Given the description of an element on the screen output the (x, y) to click on. 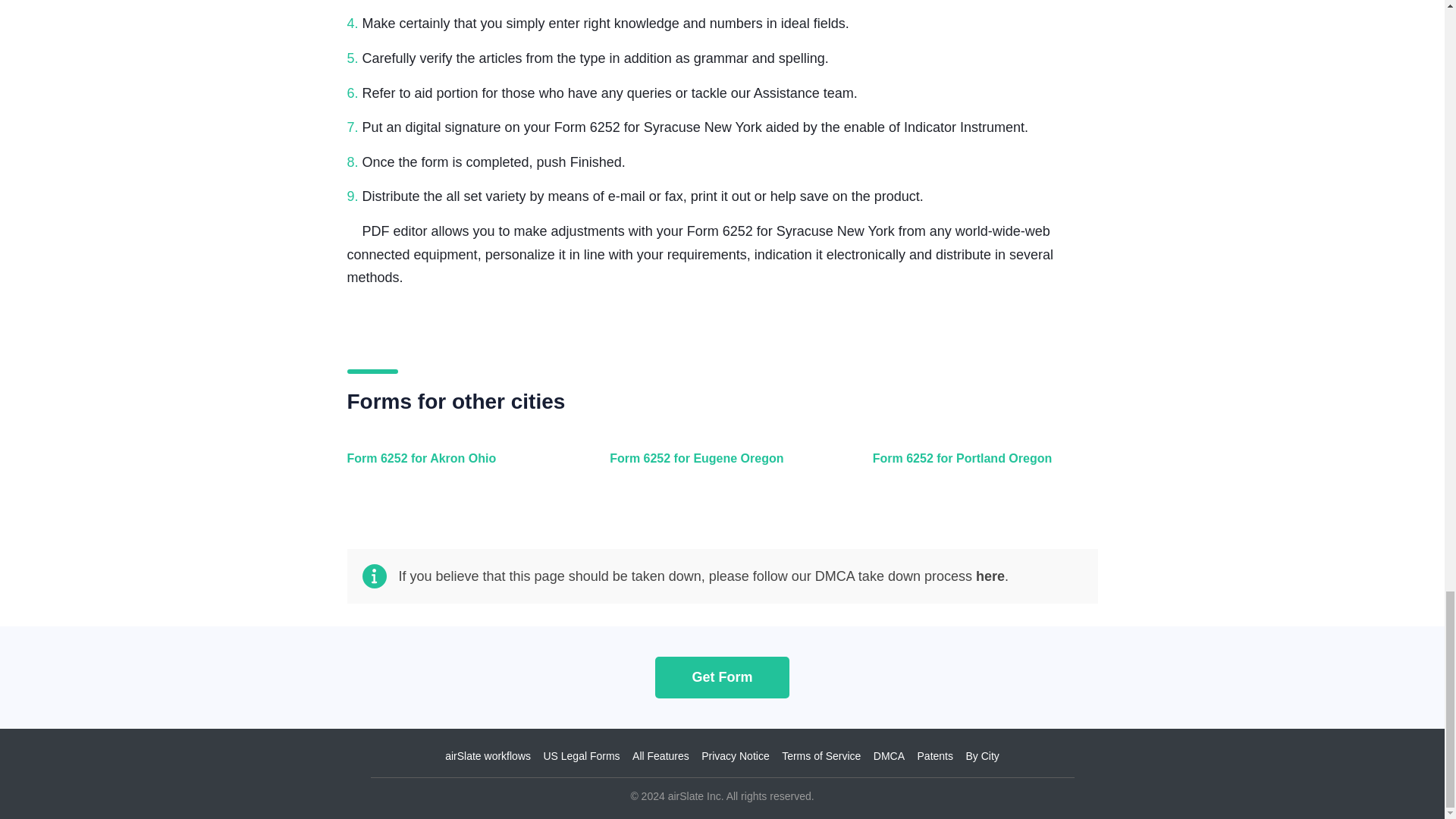
here (989, 575)
US Legal Forms (581, 756)
Form 6252 for Eugene Oregon (718, 466)
DMCA (888, 756)
airSlate workflows (488, 756)
Privacy Notice (734, 756)
Form 6252 for Portland Oregon (981, 466)
Get Form (722, 676)
All Features (659, 756)
Terms of Service (820, 756)
